Given the description of an element on the screen output the (x, y) to click on. 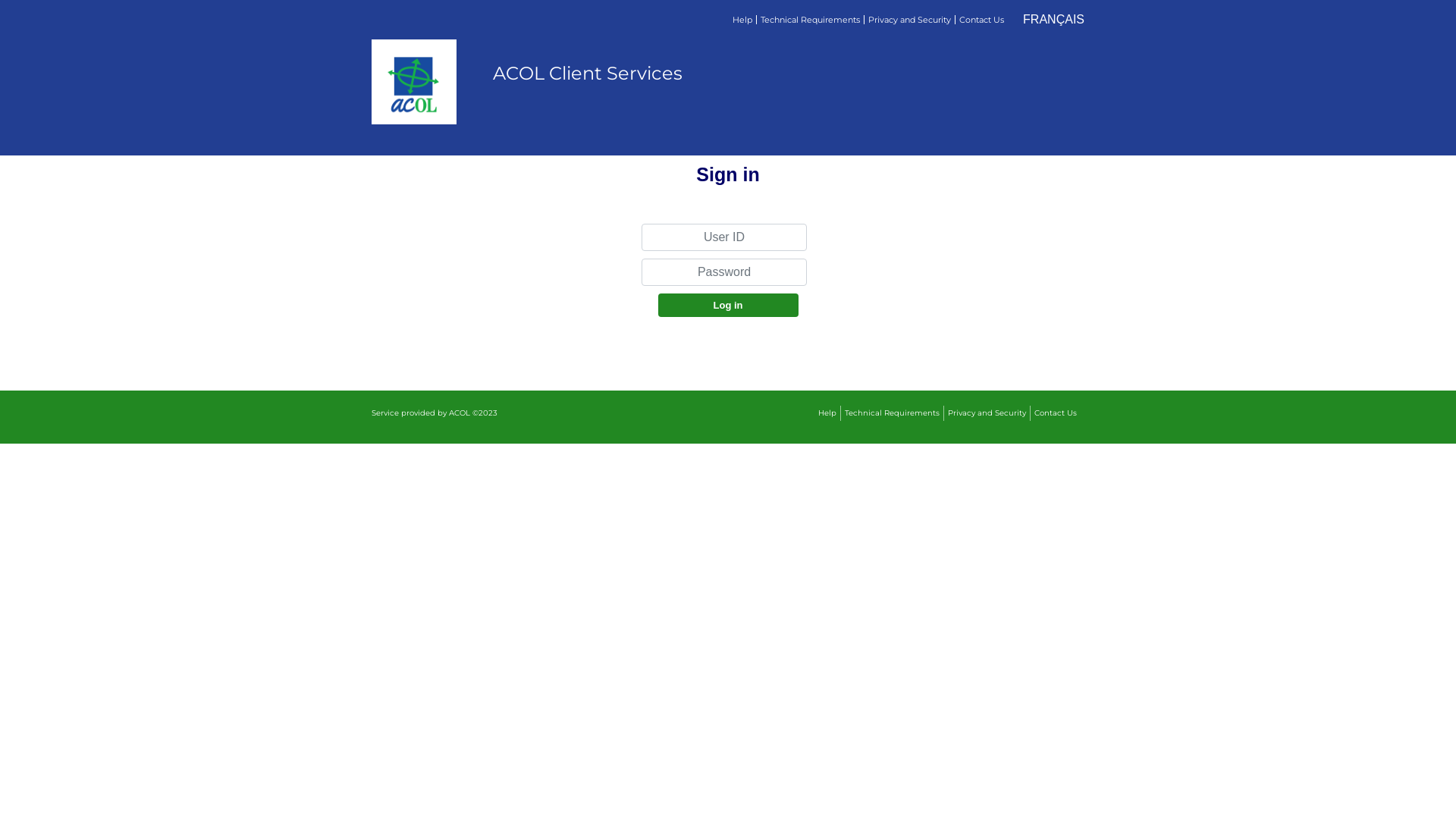
Contact Us Element type: text (981, 19)
Privacy and Security Element type: text (988, 412)
Password Element type: hover (723, 271)
Log in Element type: text (728, 304)
Help Element type: text (829, 412)
Privacy and Security Element type: text (909, 19)
Help Element type: text (742, 19)
ACOL Element type: text (459, 412)
Technical Requirements Element type: text (894, 412)
Contact Us Element type: text (1057, 412)
User ID Element type: hover (723, 237)
Technical Requirements Element type: text (810, 19)
